Given the description of an element on the screen output the (x, y) to click on. 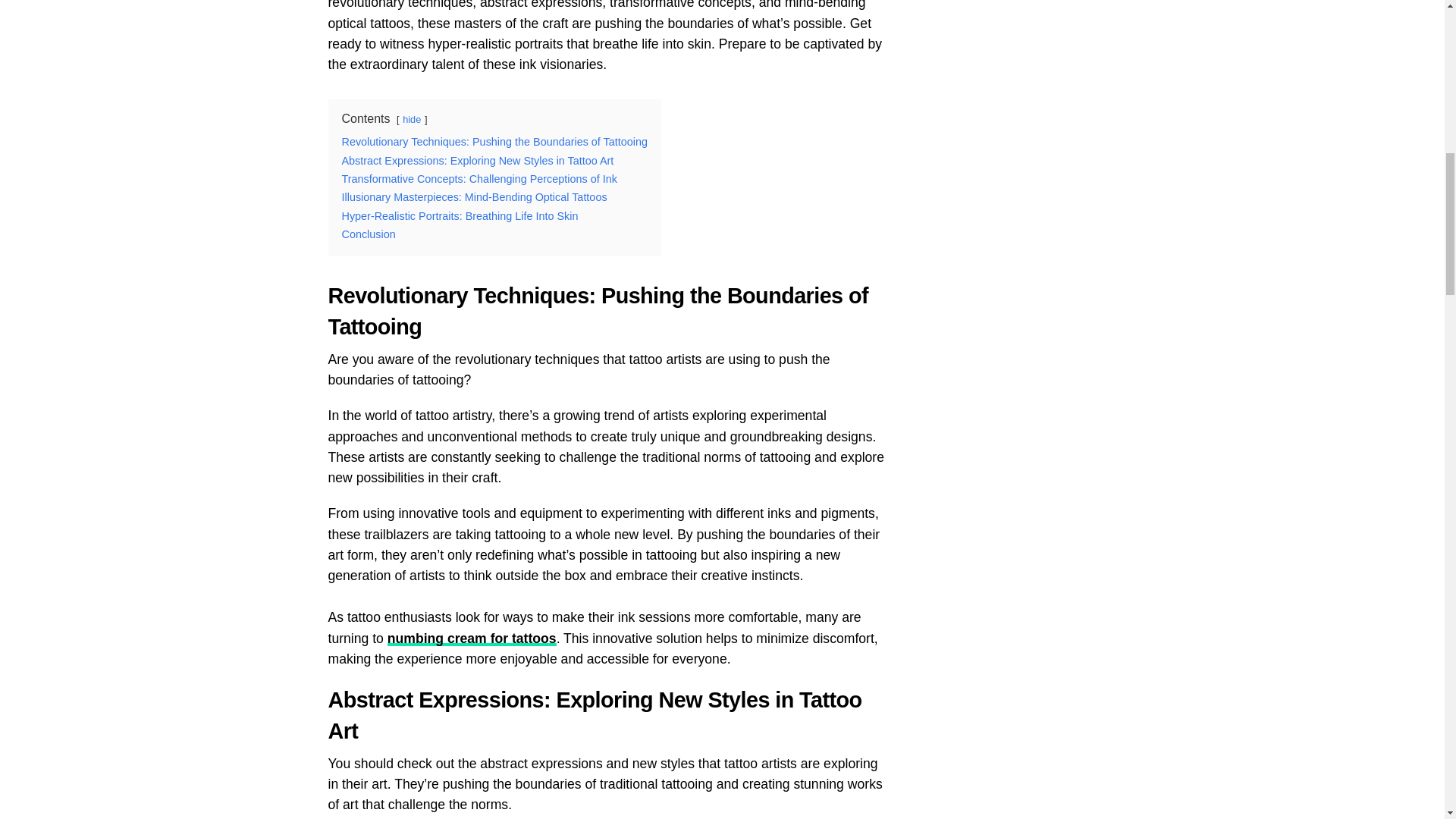
Abstract Expressions: Exploring New Styles in Tattoo Art (476, 160)
hide (411, 119)
